Given the description of an element on the screen output the (x, y) to click on. 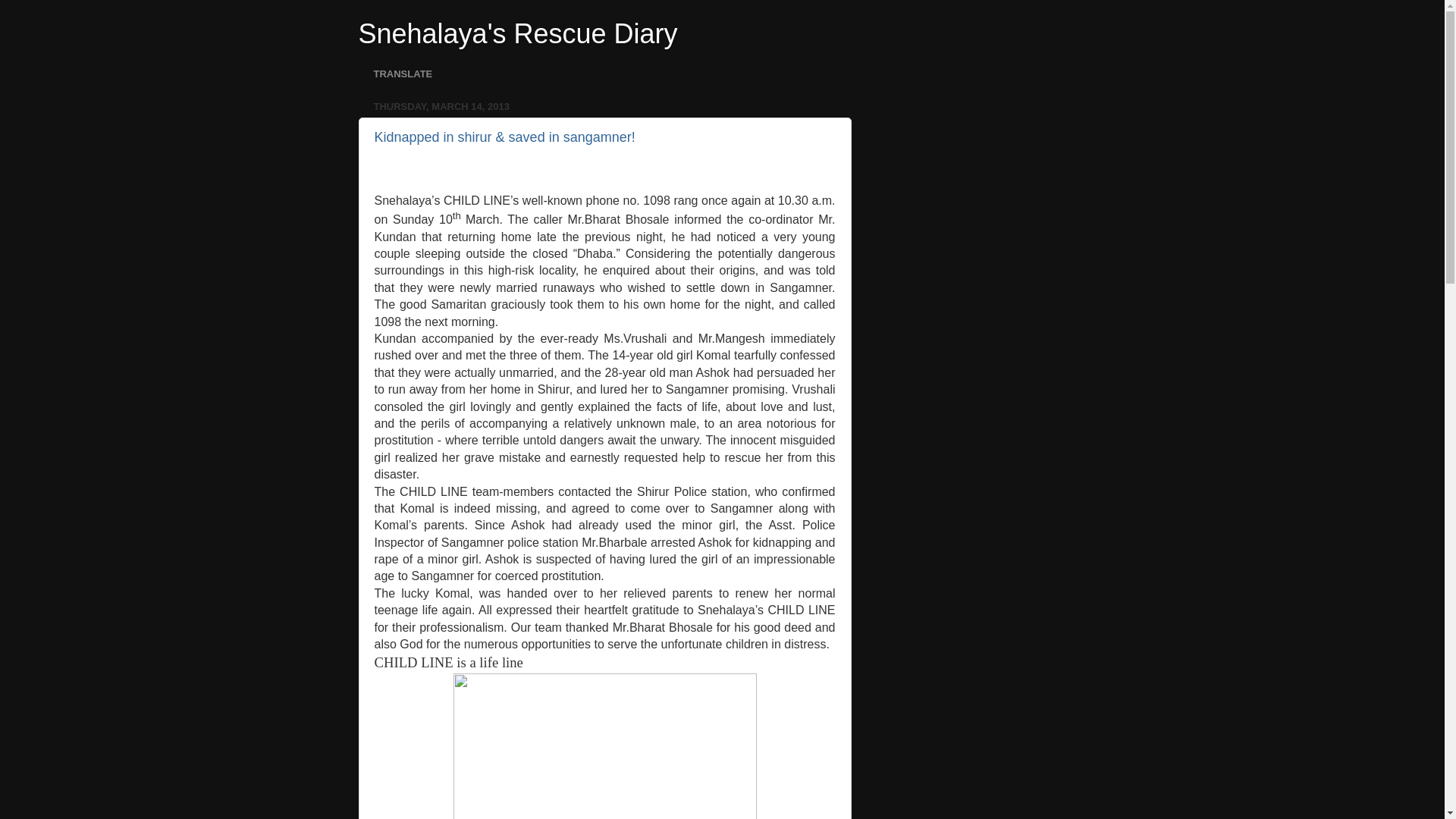
Snehalaya's Rescue Diary (517, 33)
